Given the description of an element on the screen output the (x, y) to click on. 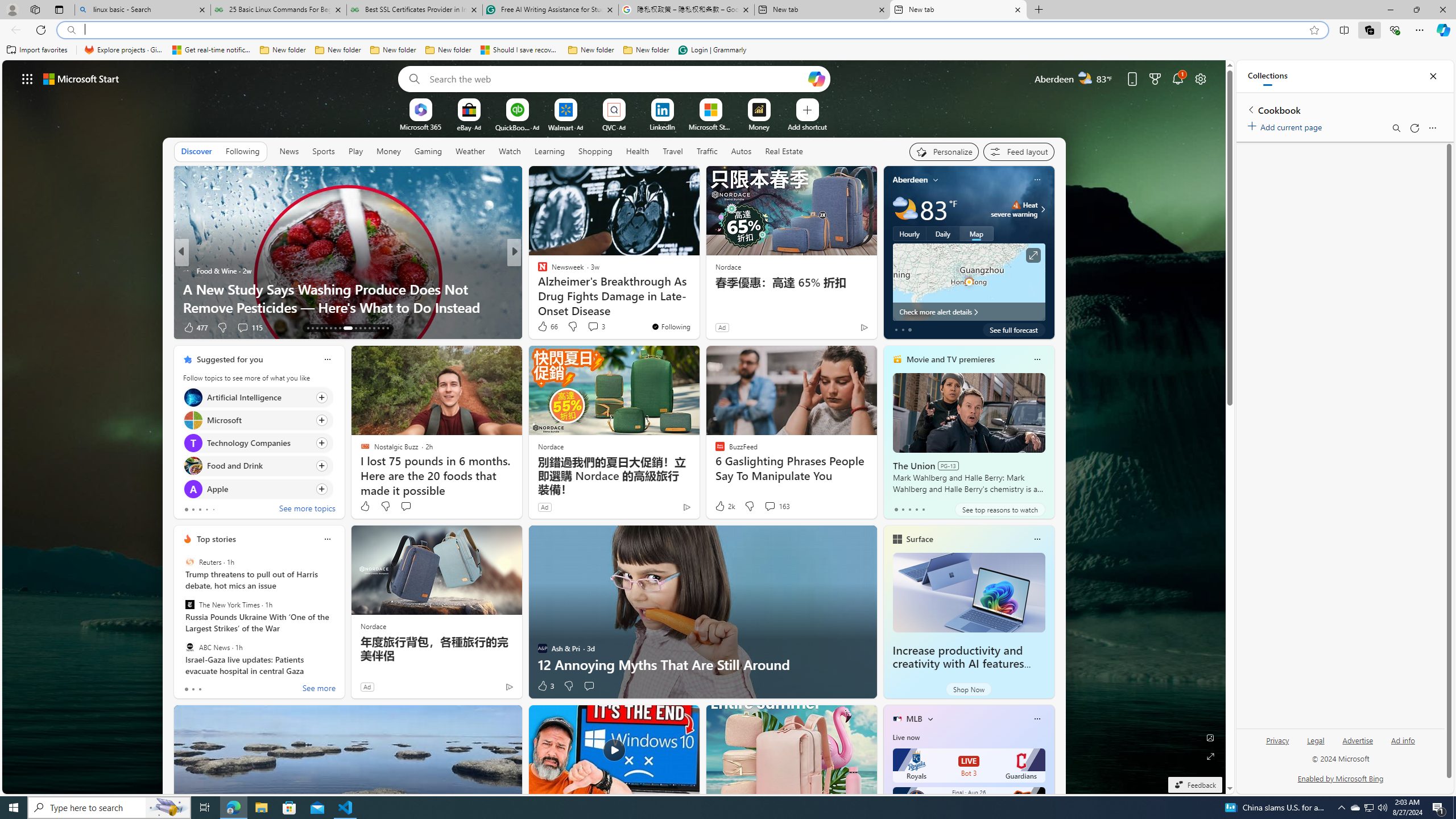
Click to follow topic Microsoft (257, 419)
Should I save recovered Word documents? - Microsoft Support (519, 49)
Favorites bar (728, 49)
ABC News (189, 646)
Autos (740, 151)
tab-4 (923, 509)
MLB (914, 718)
LinkedIn (662, 126)
Shopping (594, 151)
Watch (509, 151)
AutomationID: tab-22 (352, 328)
